Given the description of an element on the screen output the (x, y) to click on. 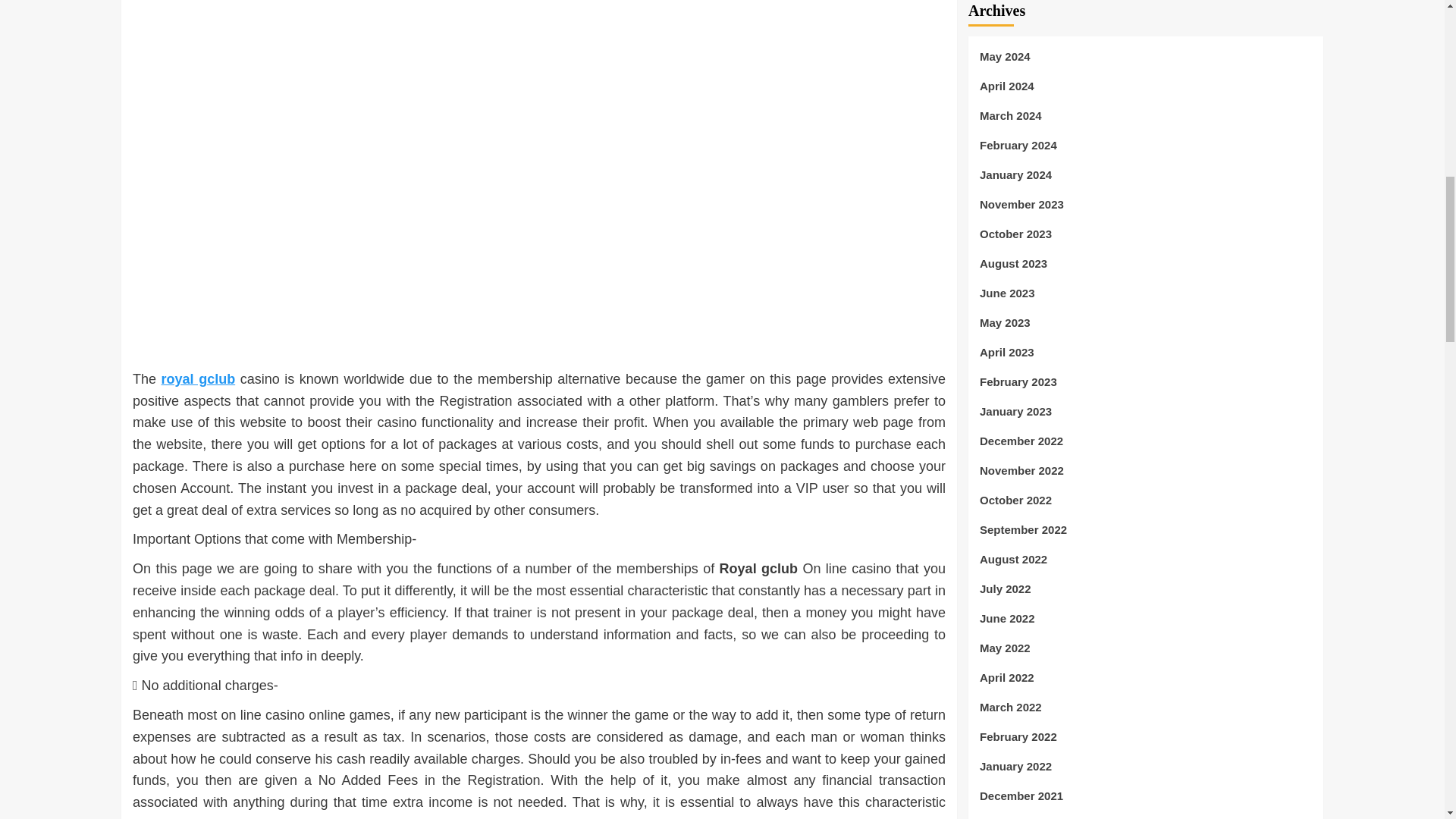
royal gclub (198, 378)
